Given the description of an element on the screen output the (x, y) to click on. 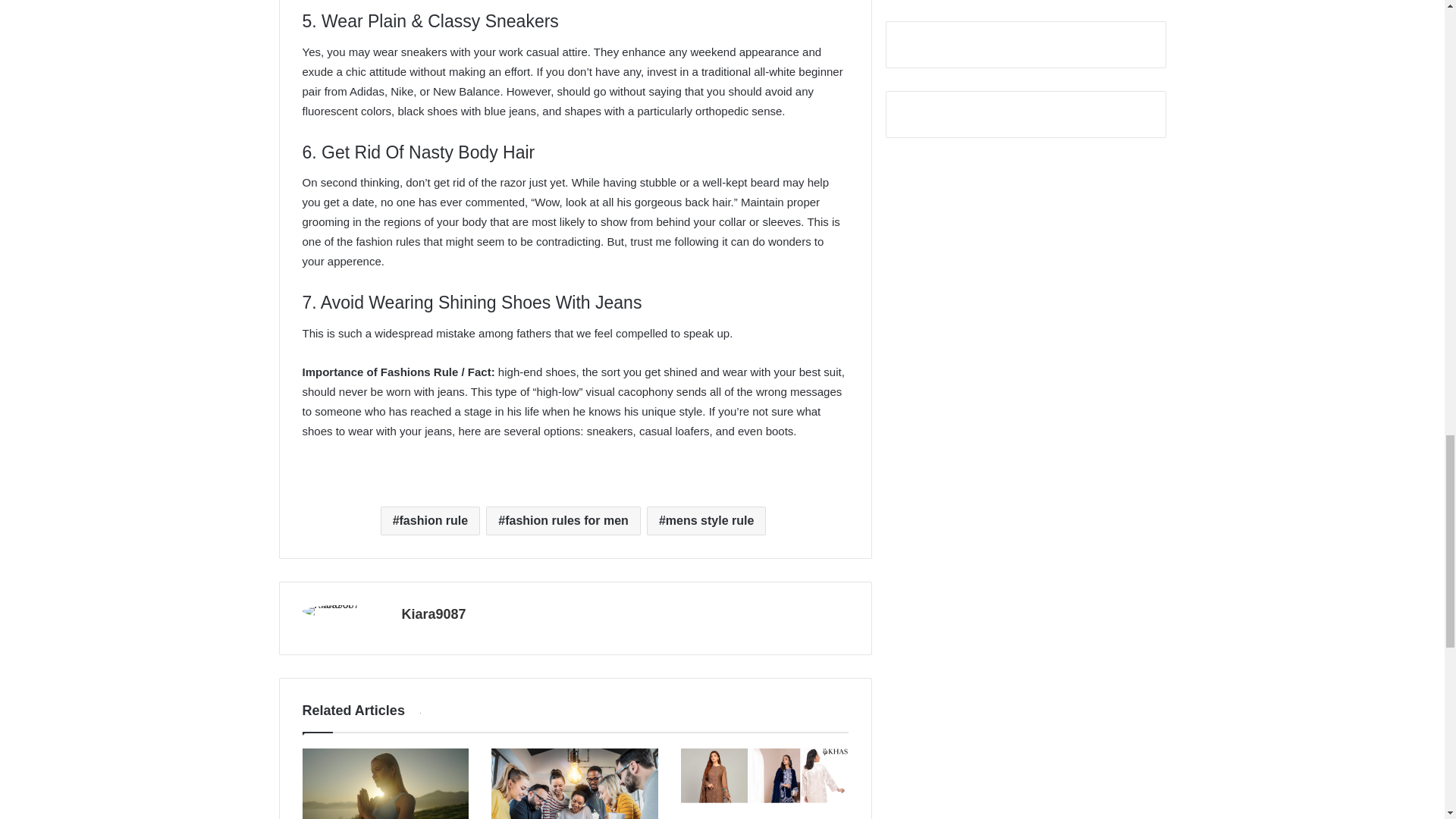
fashion rules for men (563, 520)
mens style rule (705, 520)
fashion rule (430, 520)
Kiara9087 (433, 613)
